Given the description of an element on the screen output the (x, y) to click on. 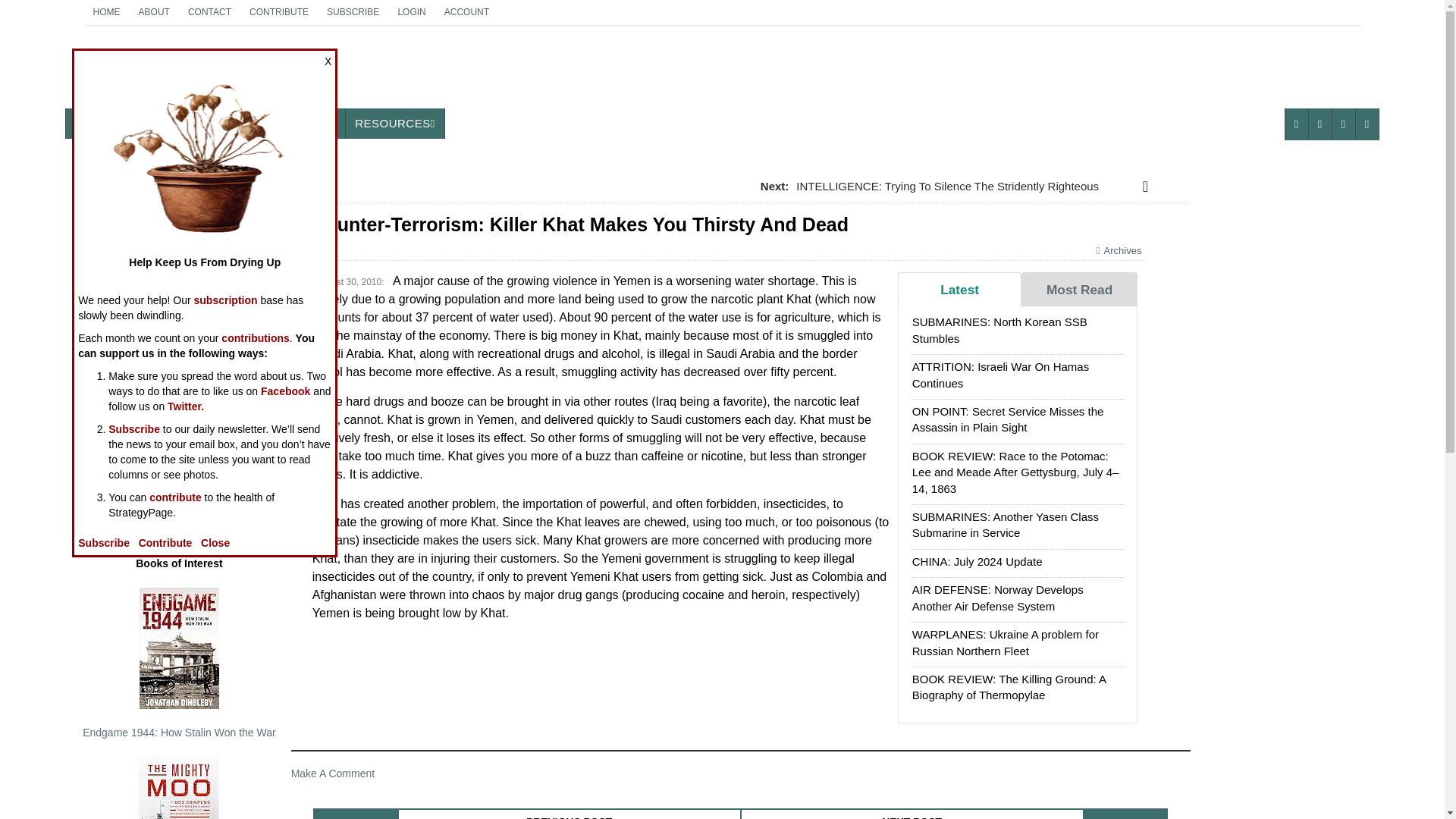
NEWS (94, 123)
HOME (106, 12)
CONTRIBUTE (278, 12)
FEATURES (168, 123)
SUBSCRIBE (352, 12)
PHOTOS (245, 123)
CONTACT (181, 72)
ABOUT (209, 12)
LOGIN (154, 12)
ACCOUNT (410, 12)
RESOURCES (466, 12)
OTHER (395, 123)
